Given the description of an element on the screen output the (x, y) to click on. 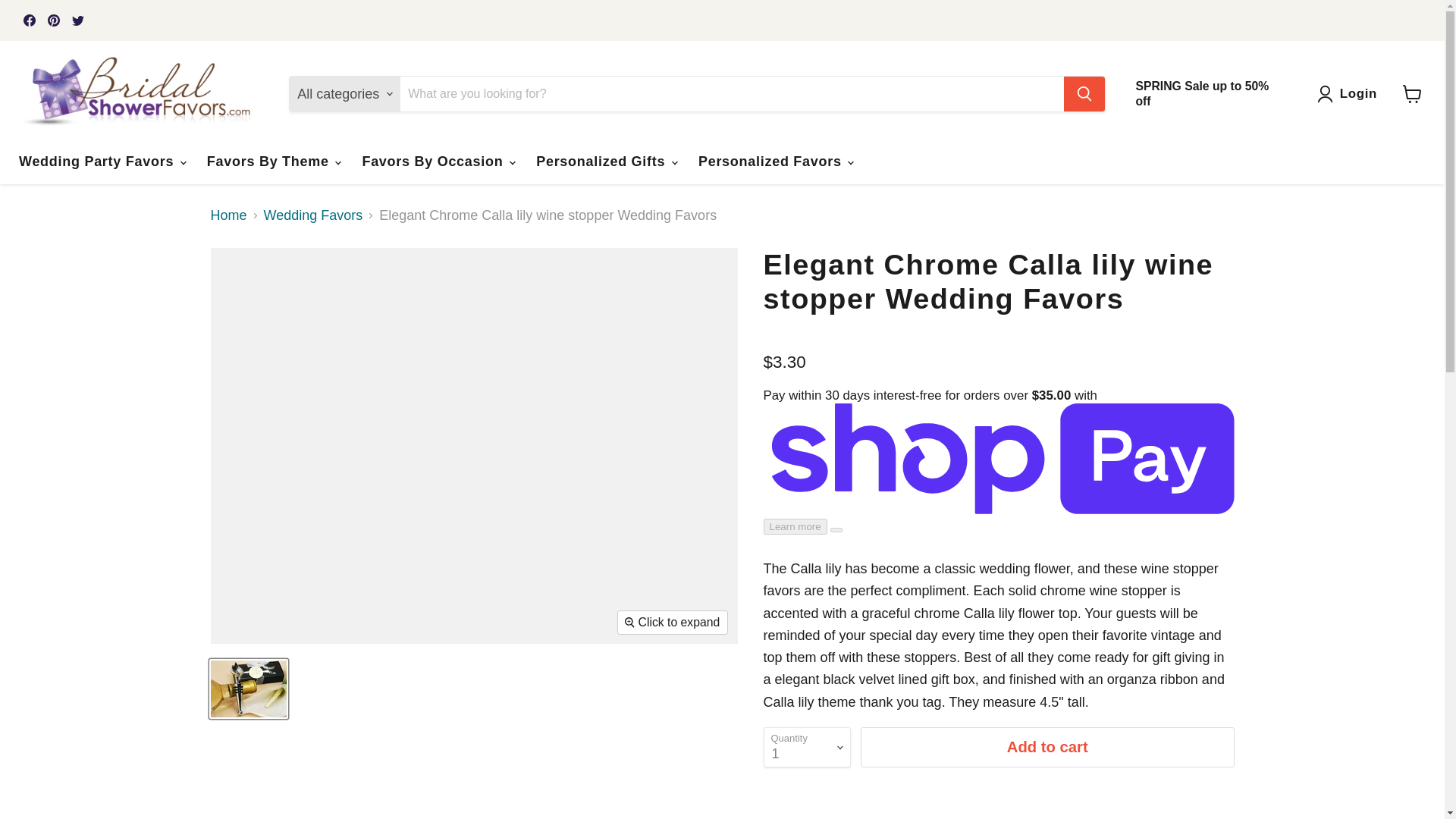
View cart (1411, 93)
Twitter (77, 20)
Find us on Pinterest (53, 20)
Facebook (29, 20)
Find us on Facebook (29, 20)
Login (1358, 94)
Find us on Twitter (77, 20)
Pinterest (53, 20)
